Given the description of an element on the screen output the (x, y) to click on. 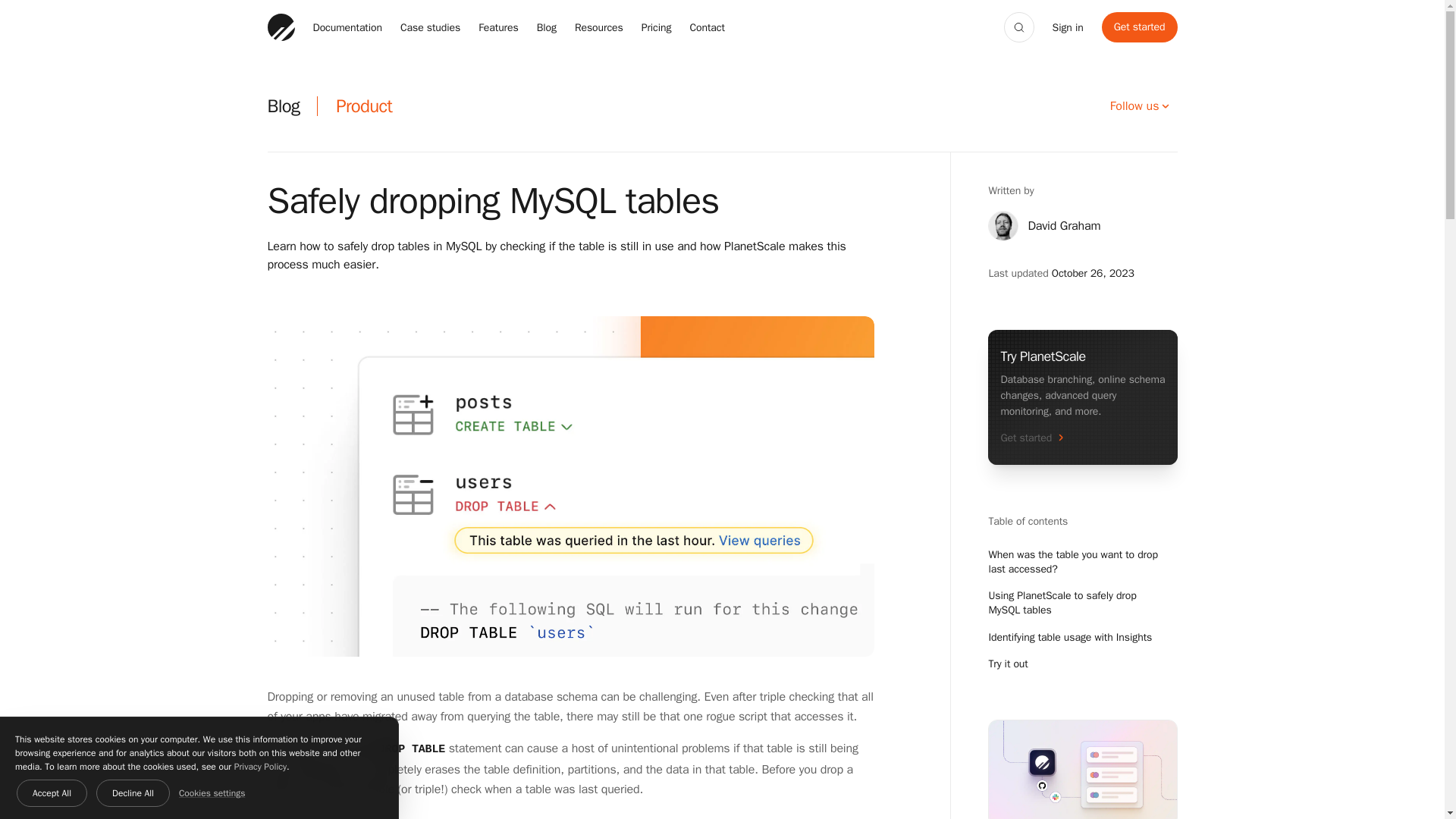
Get started (1139, 27)
Documentation (347, 27)
Accept All (51, 792)
Cookies settings (211, 793)
Blog (546, 27)
Privacy Policy (260, 766)
Case studies (430, 27)
Features (498, 27)
Product (363, 106)
Sign in (1067, 27)
Contact (705, 27)
Blog (282, 106)
Follow us (1140, 105)
Pricing (656, 27)
Decline All (133, 792)
